Given the description of an element on the screen output the (x, y) to click on. 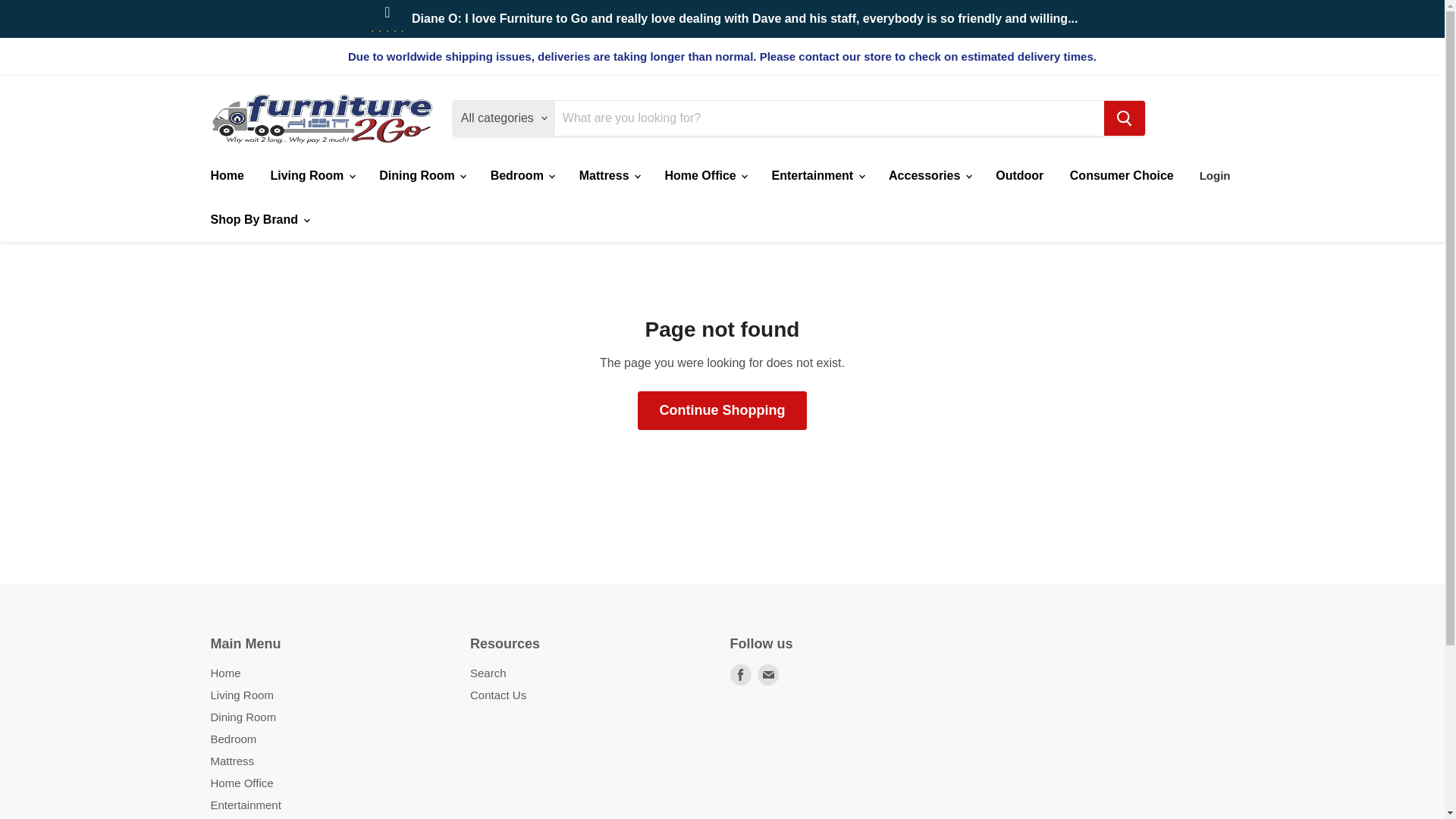
E-mail (767, 674)
Dining Room (422, 175)
Home (226, 175)
Facebook (740, 674)
Living Room (311, 175)
